Given the description of an element on the screen output the (x, y) to click on. 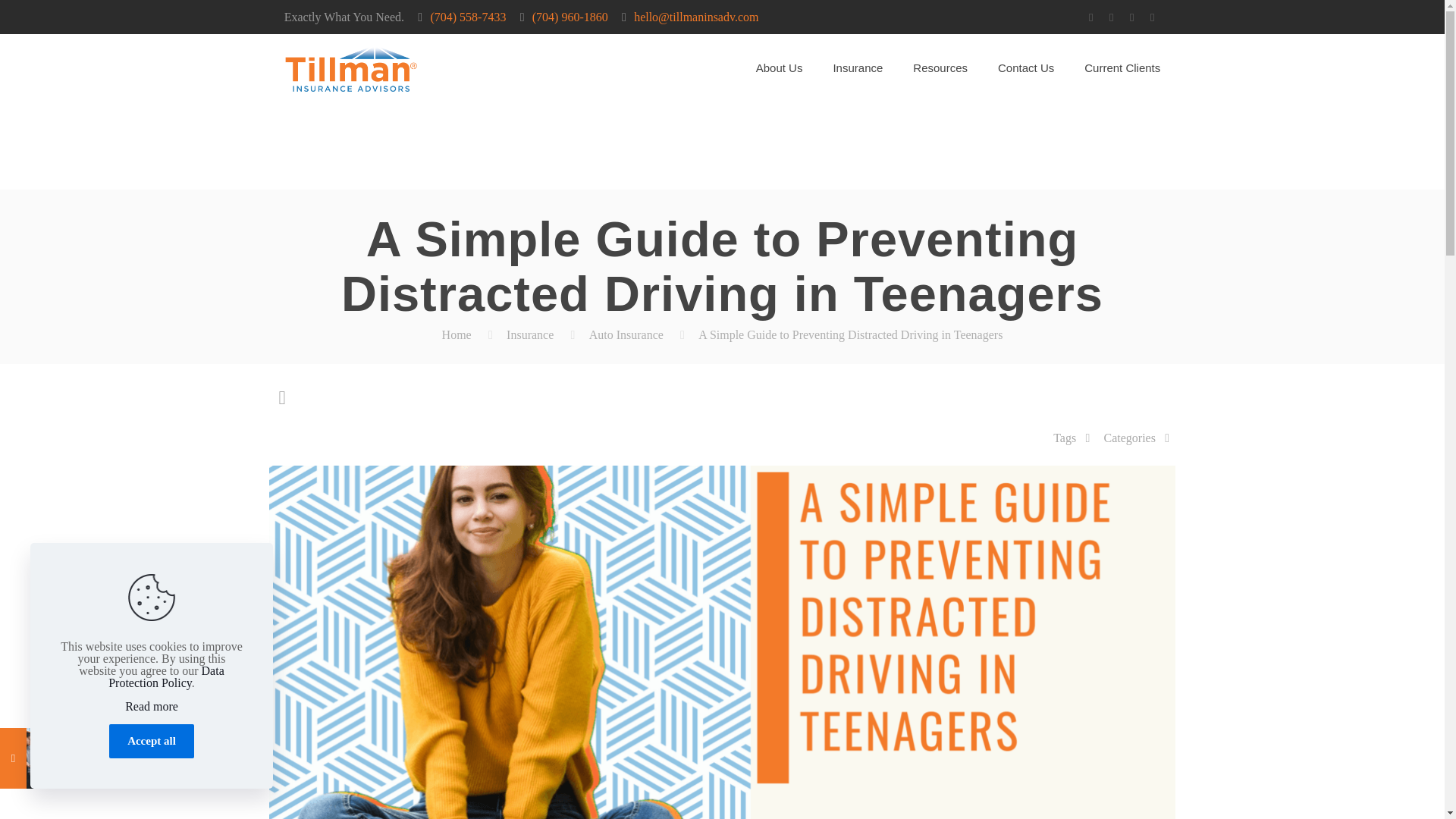
Auto Insurance (626, 334)
Home (456, 334)
Tillman Insurance Advisors (350, 68)
YouTube (1111, 17)
Current Clients (1121, 68)
LinkedIn (1132, 17)
Contact Us (1025, 68)
Insurance (857, 68)
Facebook (1091, 17)
About Us (779, 68)
Instagram (1152, 17)
Insurance (529, 334)
Resources (940, 68)
